Given the description of an element on the screen output the (x, y) to click on. 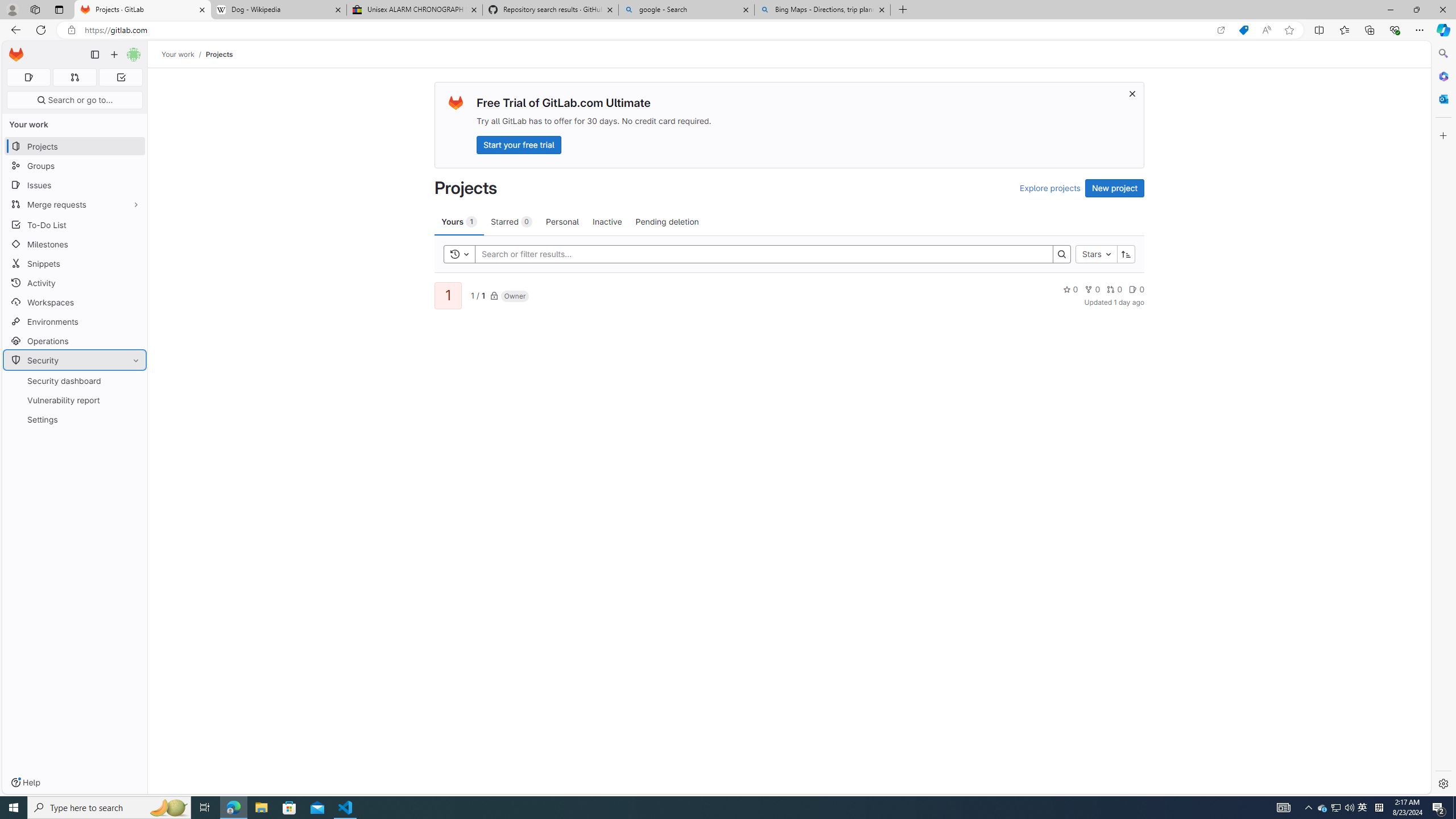
Class: s14 gl-mr-2 (1132, 289)
11 / 1Owner0000Updated 1 day ago (788, 295)
Dog - Wikipedia (277, 9)
Issues (74, 185)
Starred 0 (510, 221)
